Given the description of an element on the screen output the (x, y) to click on. 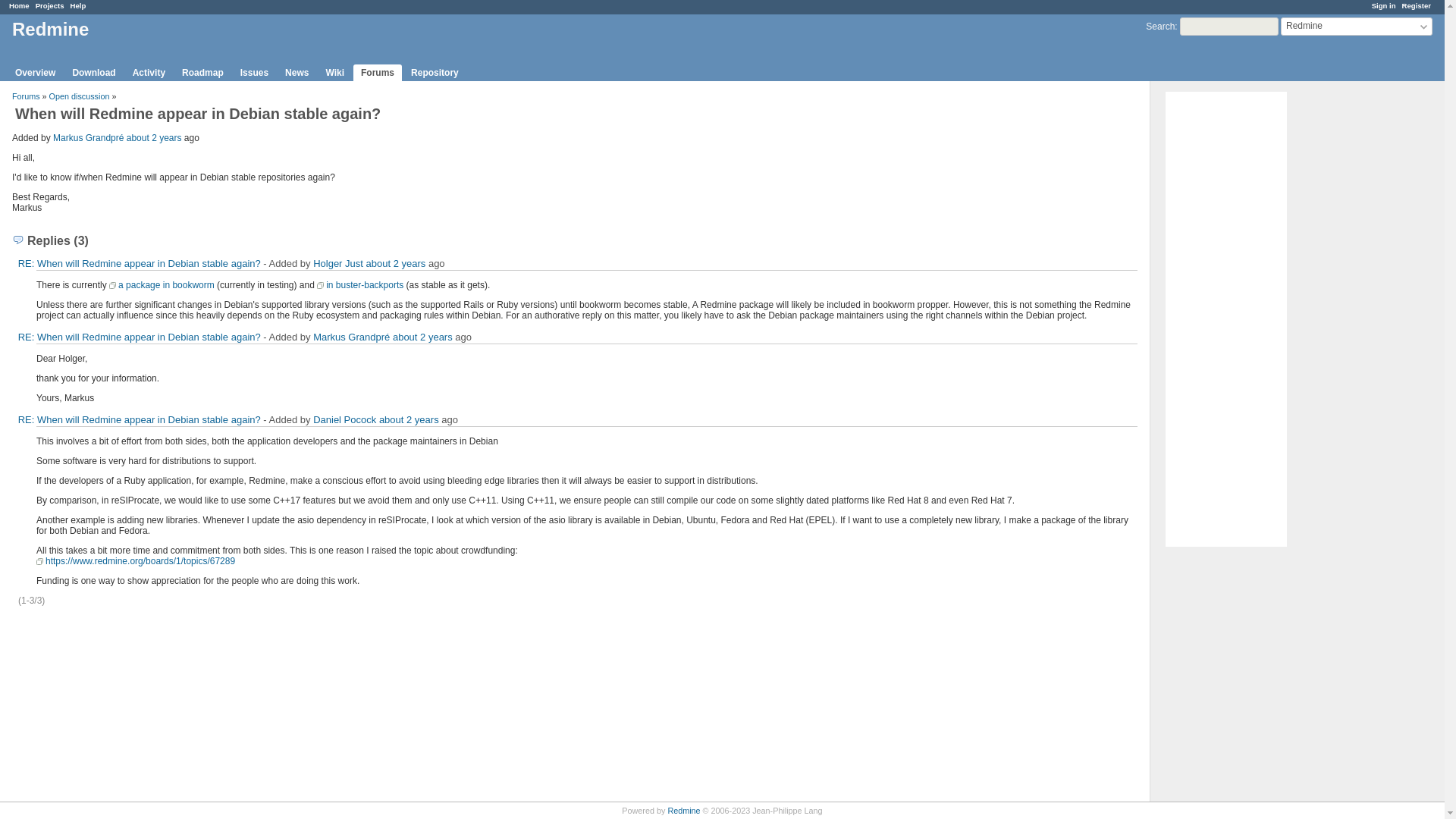
News (296, 72)
Activity (149, 72)
Download (93, 72)
Forums (377, 72)
in buster-backports (360, 285)
about 2 years (396, 263)
2022-05-25 13:50 (154, 137)
2022-05-30 13:22 (396, 263)
Roadmap (202, 72)
about 2 years (154, 137)
Help (77, 5)
Projects (49, 5)
about 2 years (408, 419)
Overview (34, 72)
Issues (254, 72)
